Given the description of an element on the screen output the (x, y) to click on. 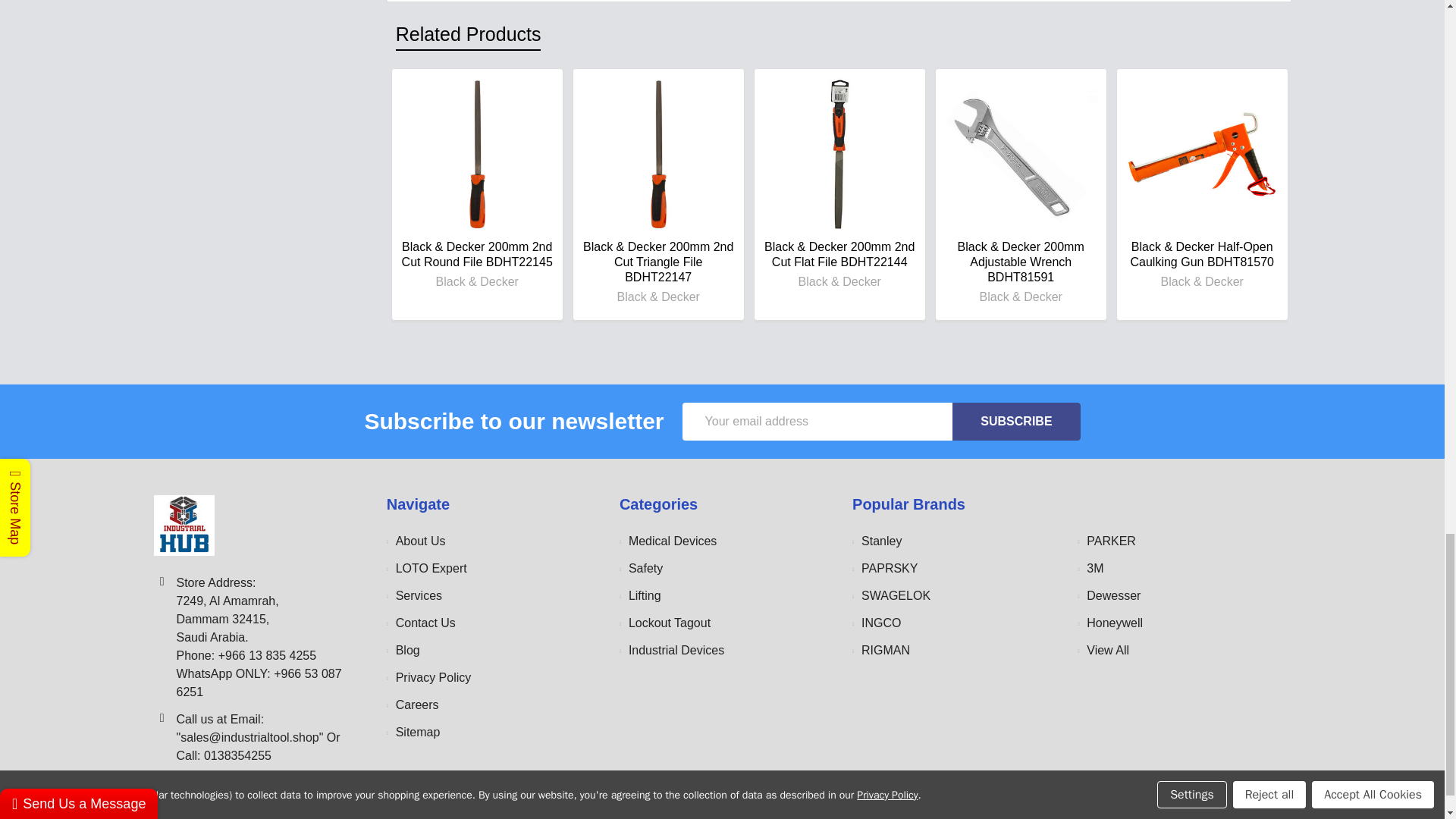
Subscribe (1016, 420)
